Given the description of an element on the screen output the (x, y) to click on. 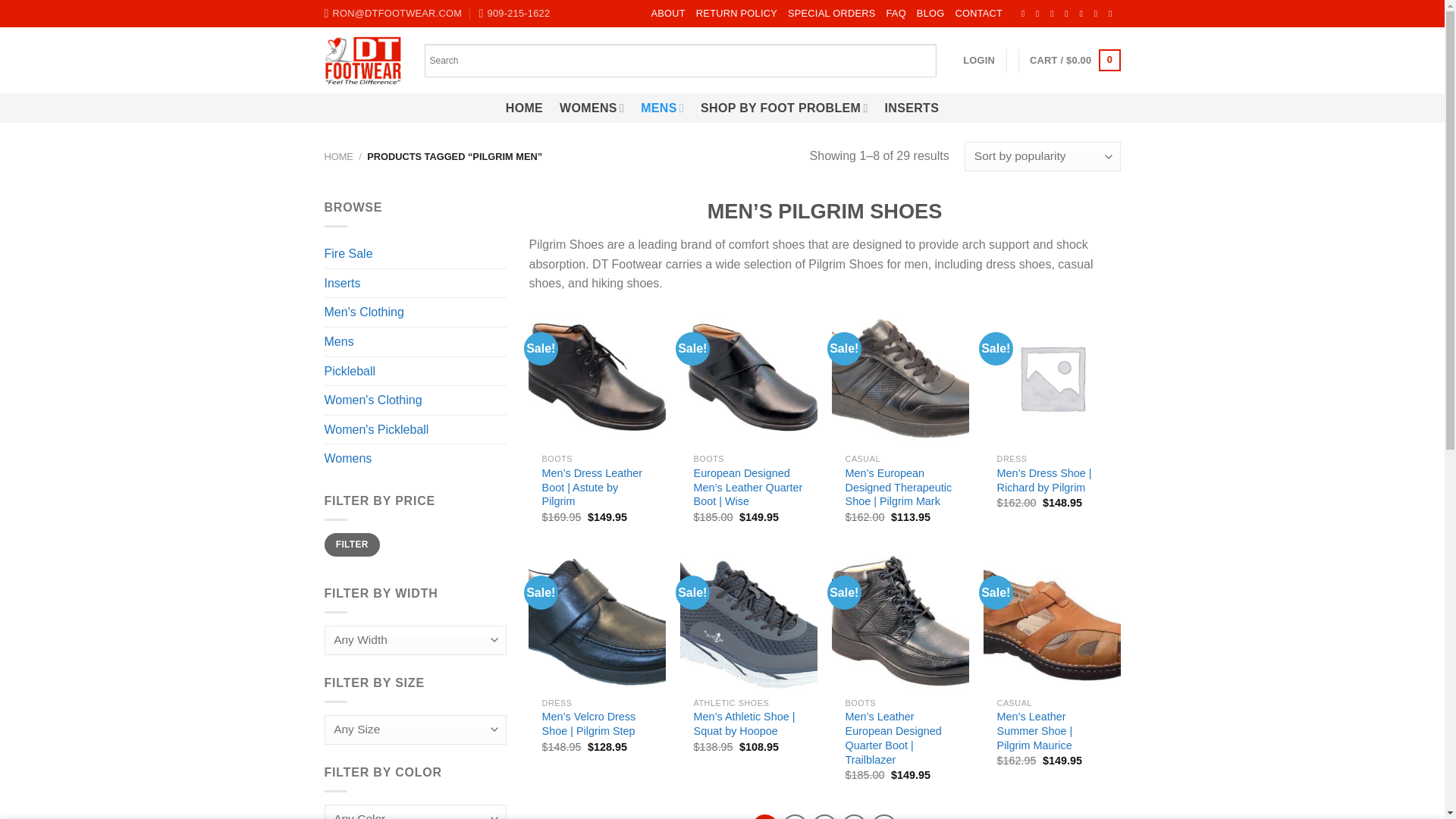
Login (978, 60)
LOGIN (978, 60)
RETURN POLICY (736, 13)
ABOUT (667, 13)
SPECIAL ORDERS (831, 13)
DT Footwear - Feel The Difference (362, 60)
WOMENS (591, 107)
909-215-1622 (514, 13)
HOME (524, 108)
CONTACT (979, 13)
